Given the description of an element on the screen output the (x, y) to click on. 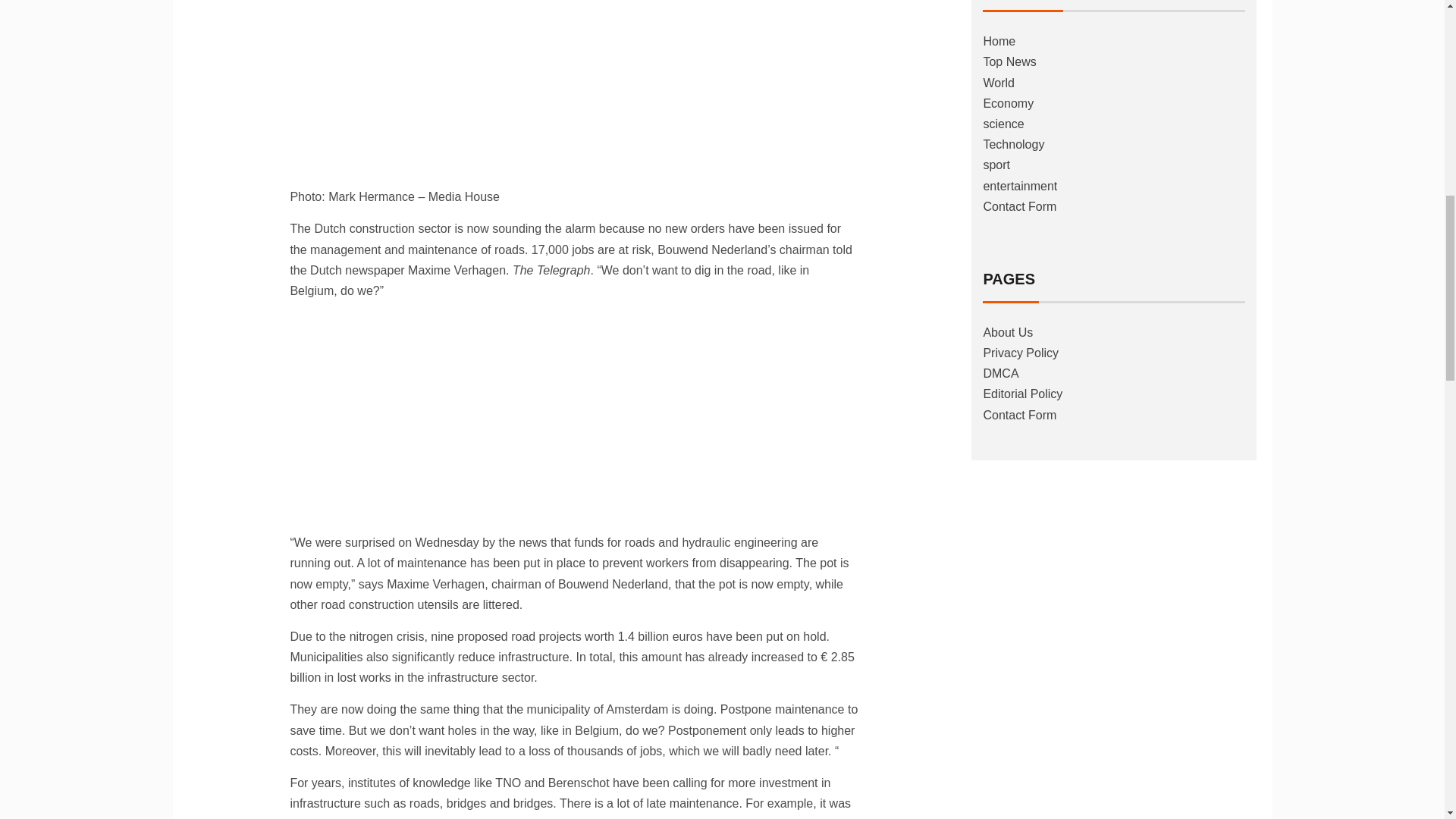
Advertisement (574, 418)
Advertisement (574, 89)
